Given the description of an element on the screen output the (x, y) to click on. 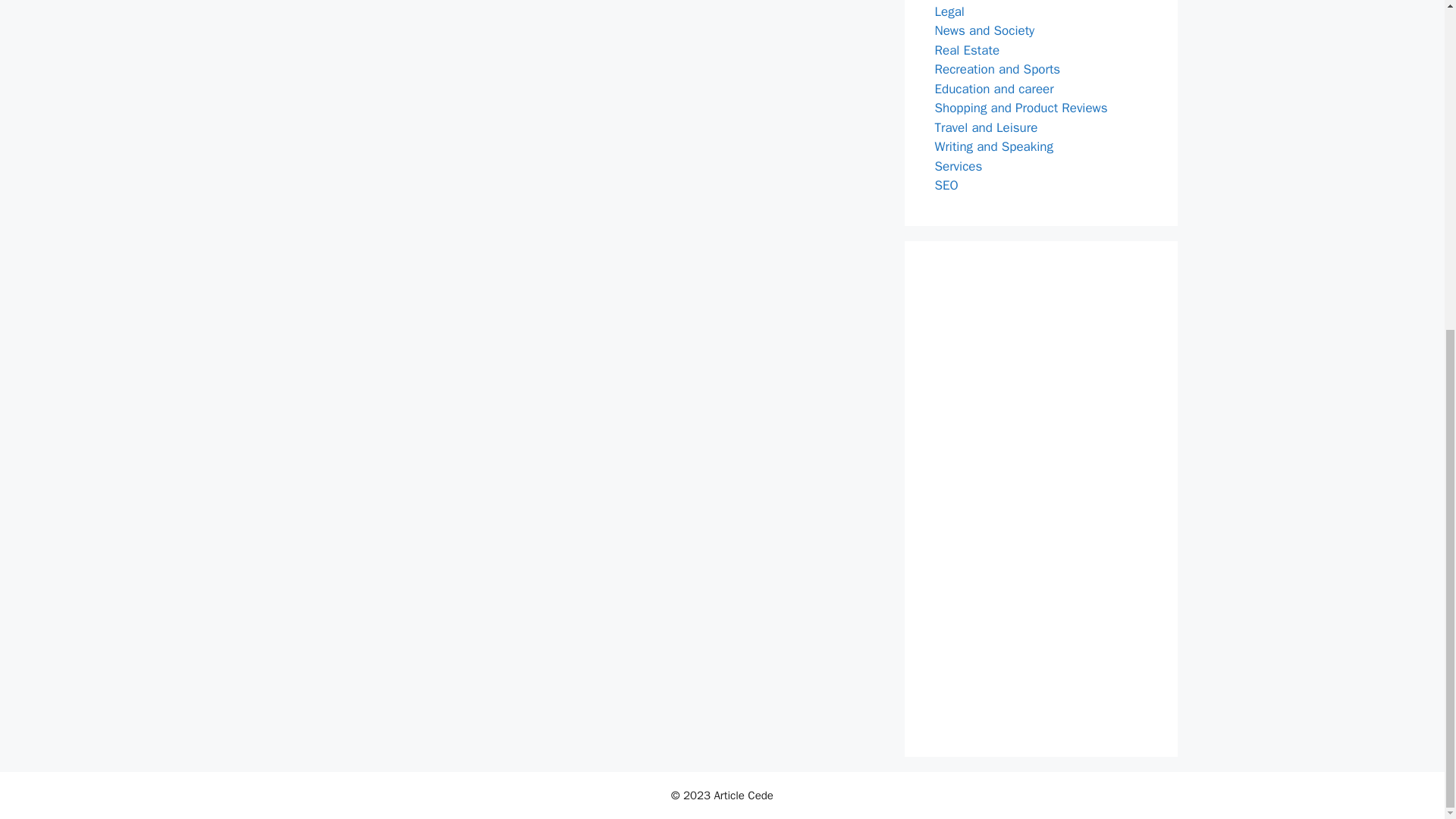
Real Estate (966, 50)
Shopping and Product Reviews (1020, 107)
Recreation and Sports (996, 68)
Travel and Leisure (985, 127)
SEO (946, 185)
Legal (948, 10)
Advertisement (1040, 498)
Services (957, 165)
News and Society (983, 30)
Writing and Speaking (993, 146)
Education and career (993, 88)
